Given the description of an element on the screen output the (x, y) to click on. 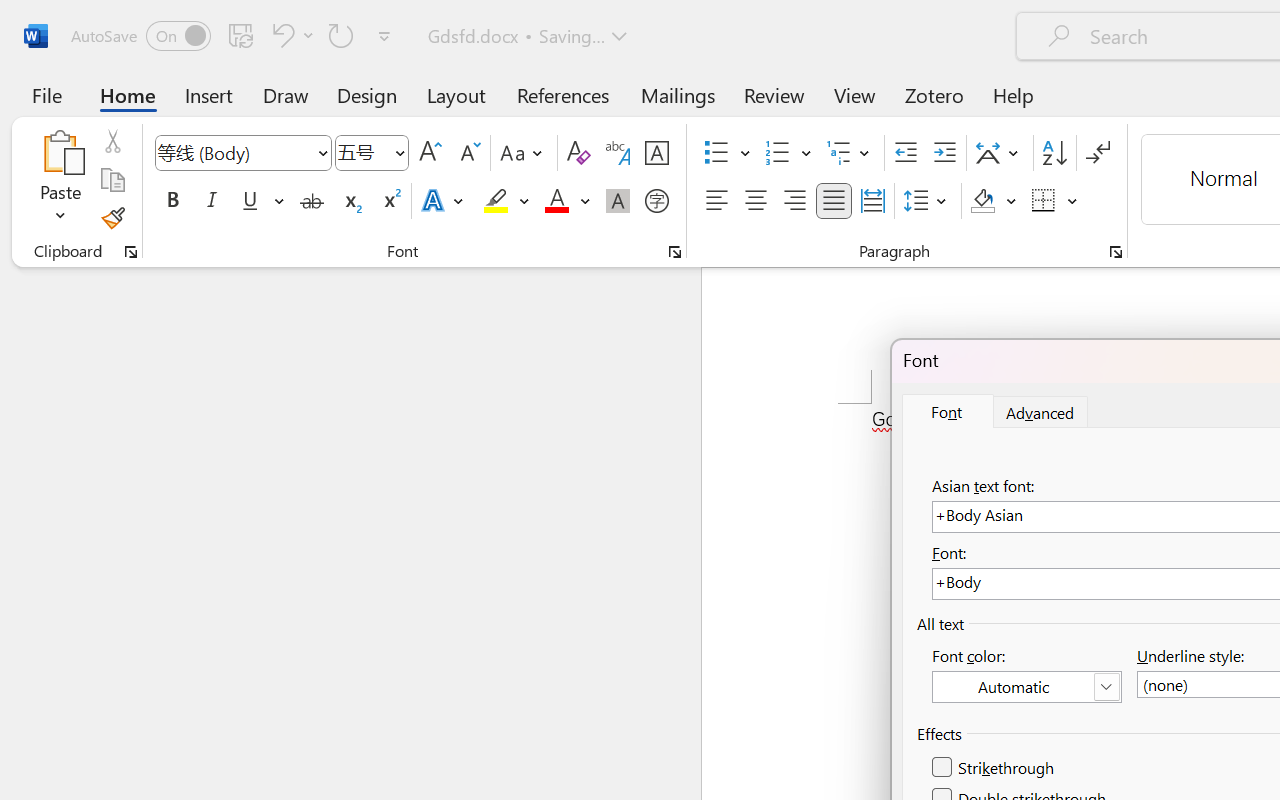
Line and Paragraph Spacing (927, 201)
Font Color (567, 201)
Multilevel List (850, 153)
Character Shading (618, 201)
Align Right (794, 201)
Character Border (656, 153)
